Given the description of an element on the screen output the (x, y) to click on. 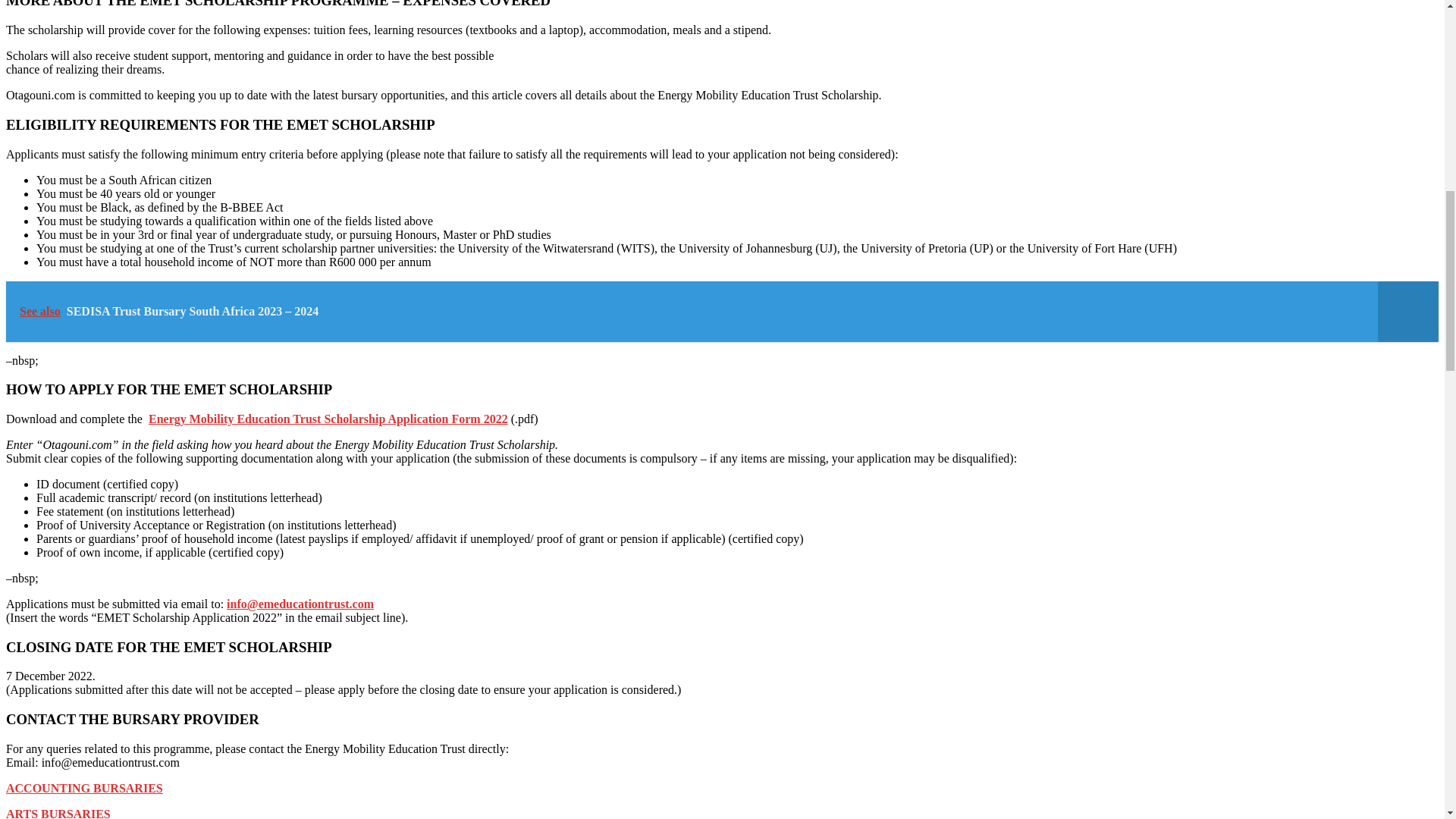
ARTS BURSARIES (57, 813)
ACCOUNTING BURSARIES (84, 788)
